Given the description of an element on the screen output the (x, y) to click on. 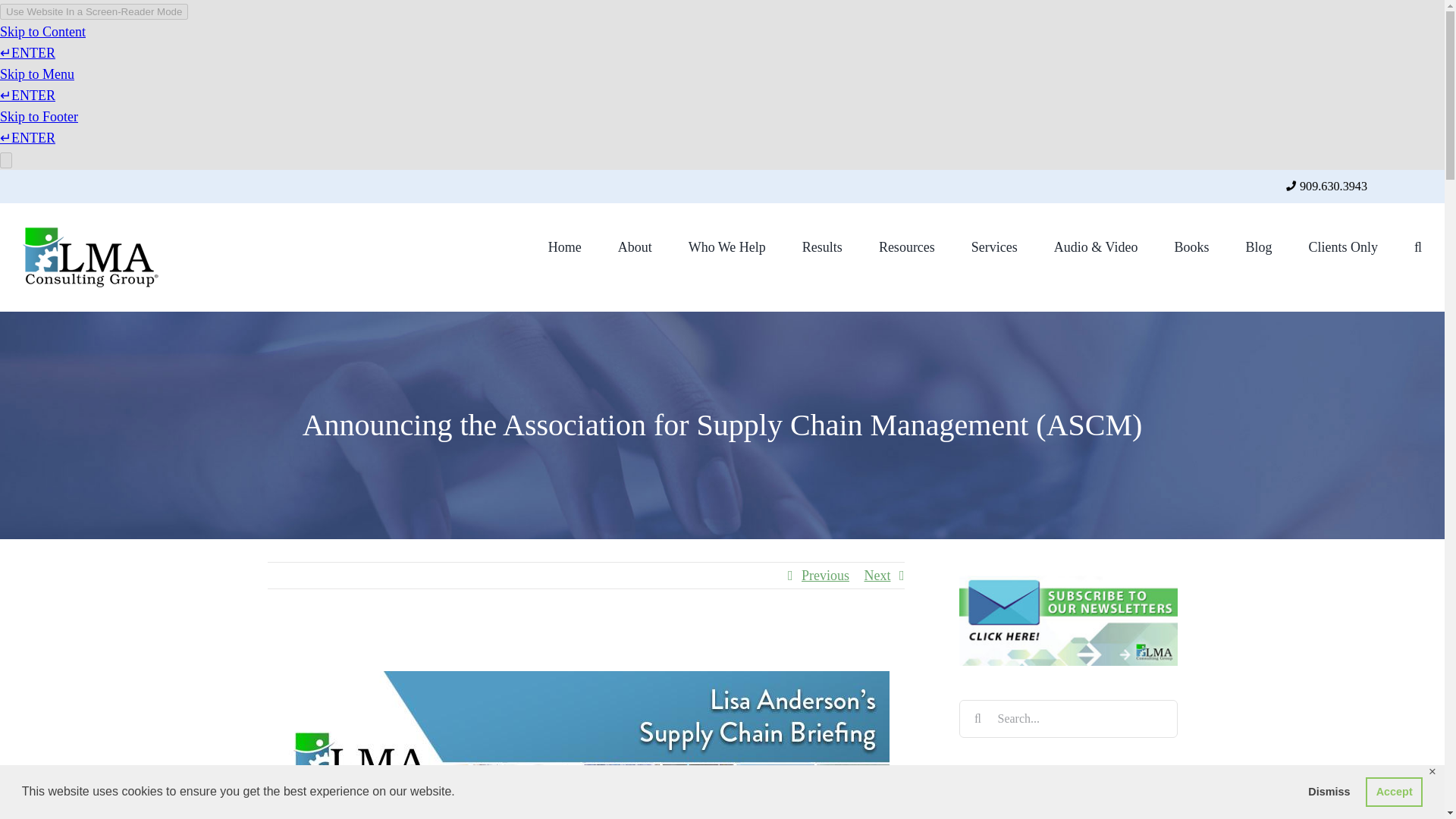
909.630.3943 (1333, 186)
Next (877, 575)
Search (1417, 245)
Clients Only (1342, 245)
Accept (1393, 791)
Resources (906, 245)
Dismiss (1328, 791)
Books (1190, 245)
Home (564, 245)
Blog (1257, 245)
Services (994, 245)
Who We Help (726, 245)
About (634, 245)
Previous (825, 575)
